Given the description of an element on the screen output the (x, y) to click on. 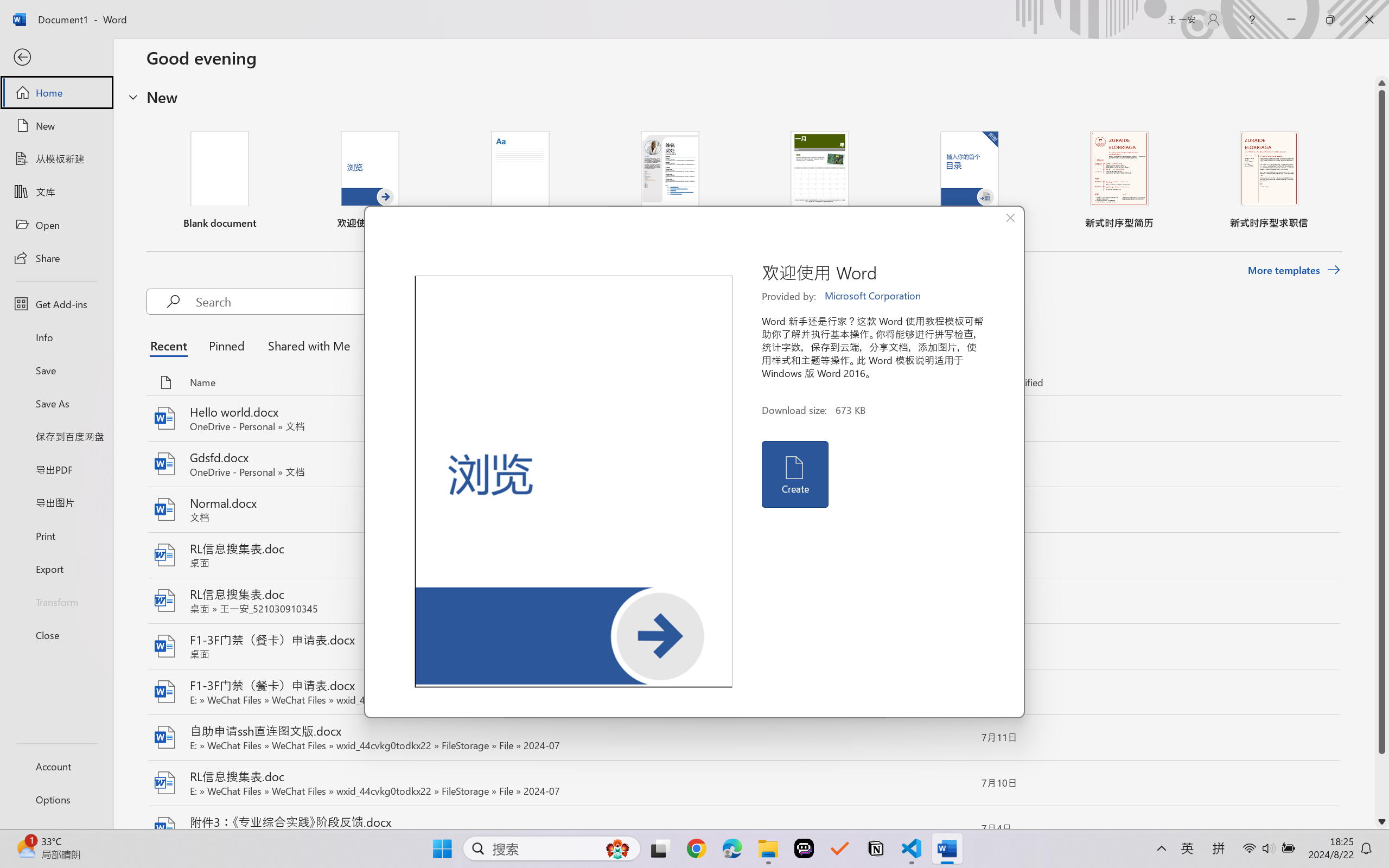
Normal.docx (743, 509)
Back (56, 57)
Page down (1382, 784)
Blank document (219, 180)
More templates (1293, 270)
Microsoft Corporation (873, 296)
